Given the description of an element on the screen output the (x, y) to click on. 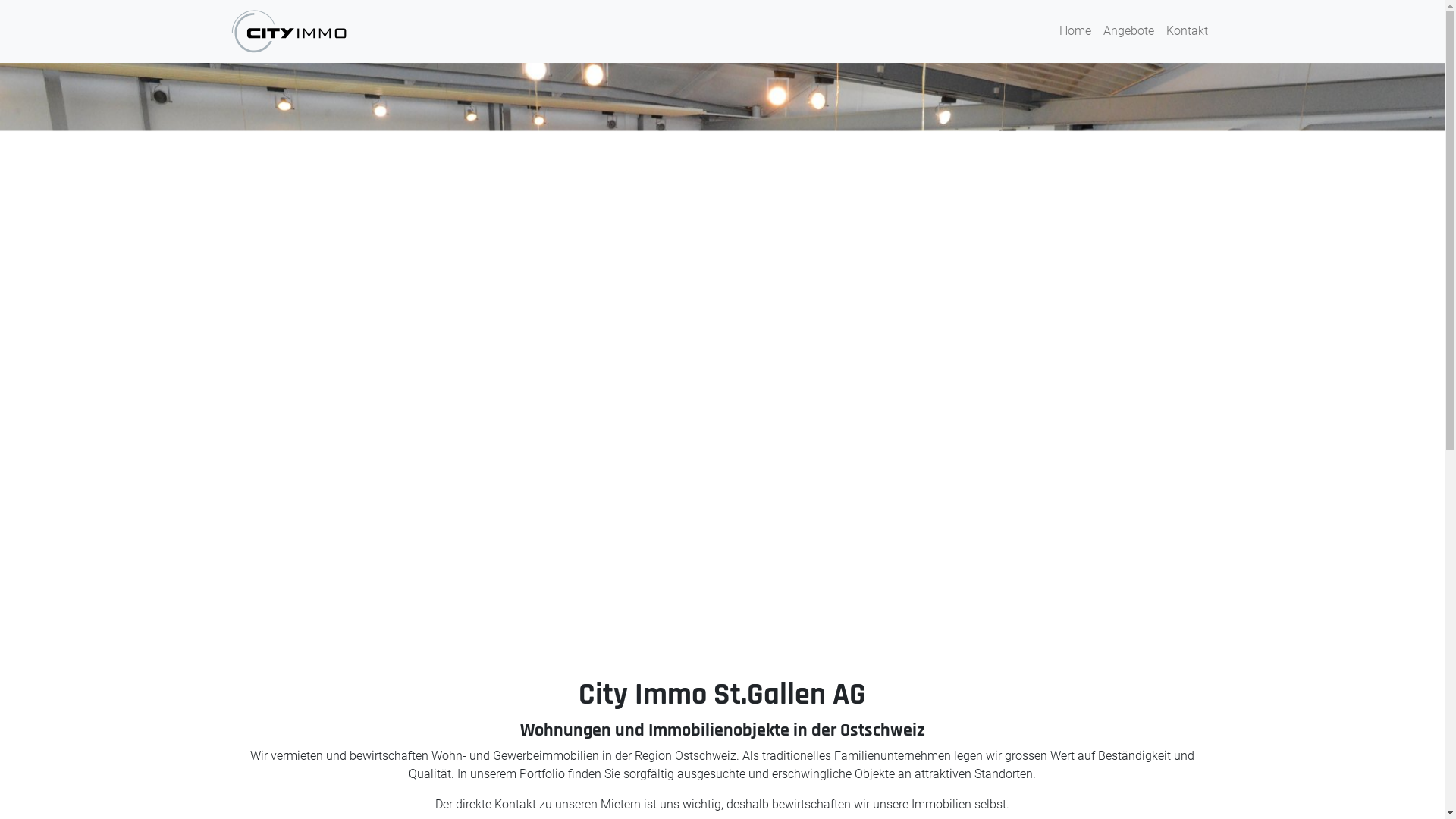
Angebote Element type: text (1127, 30)
Kontakt Element type: text (1187, 30)
Previous Element type: text (108, 351)
Home Element type: text (1074, 30)
Next Element type: text (1335, 351)
